Given the description of an element on the screen output the (x, y) to click on. 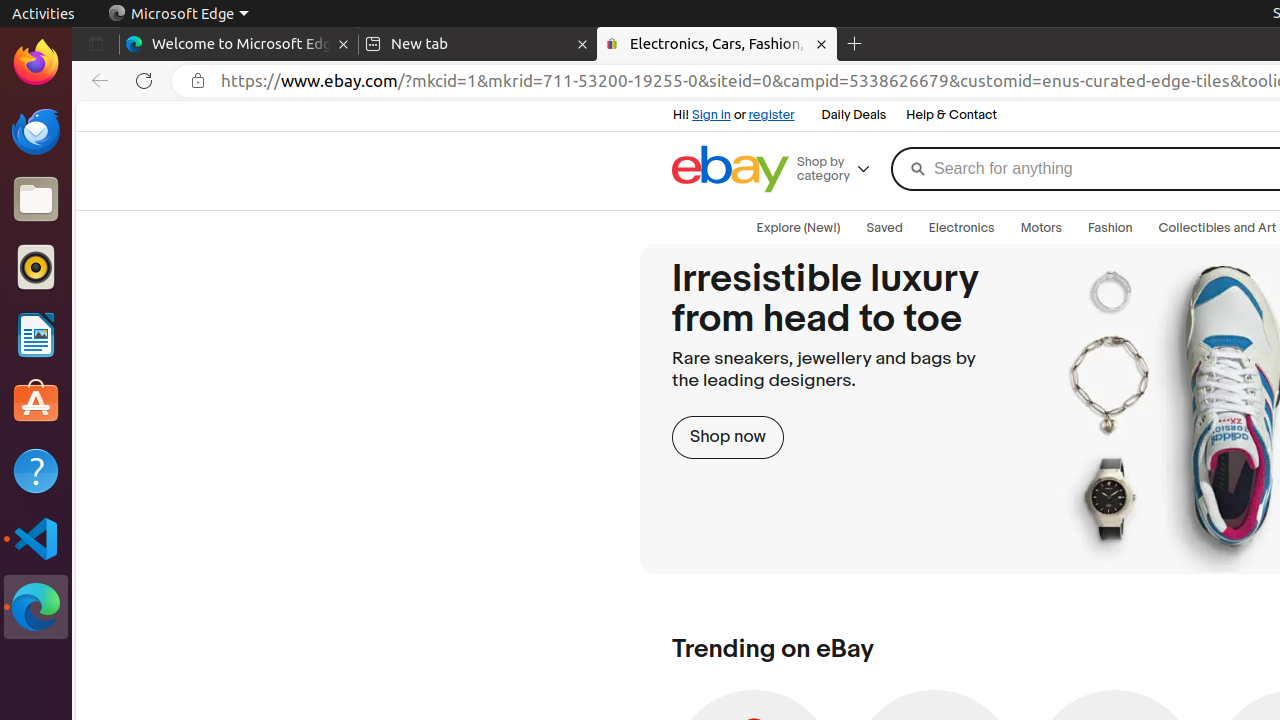
Thunderbird Mail Element type: push-button (36, 131)
Daily Deals Element type: link (854, 115)
Saved Element type: link (884, 228)
